Given the description of an element on the screen output the (x, y) to click on. 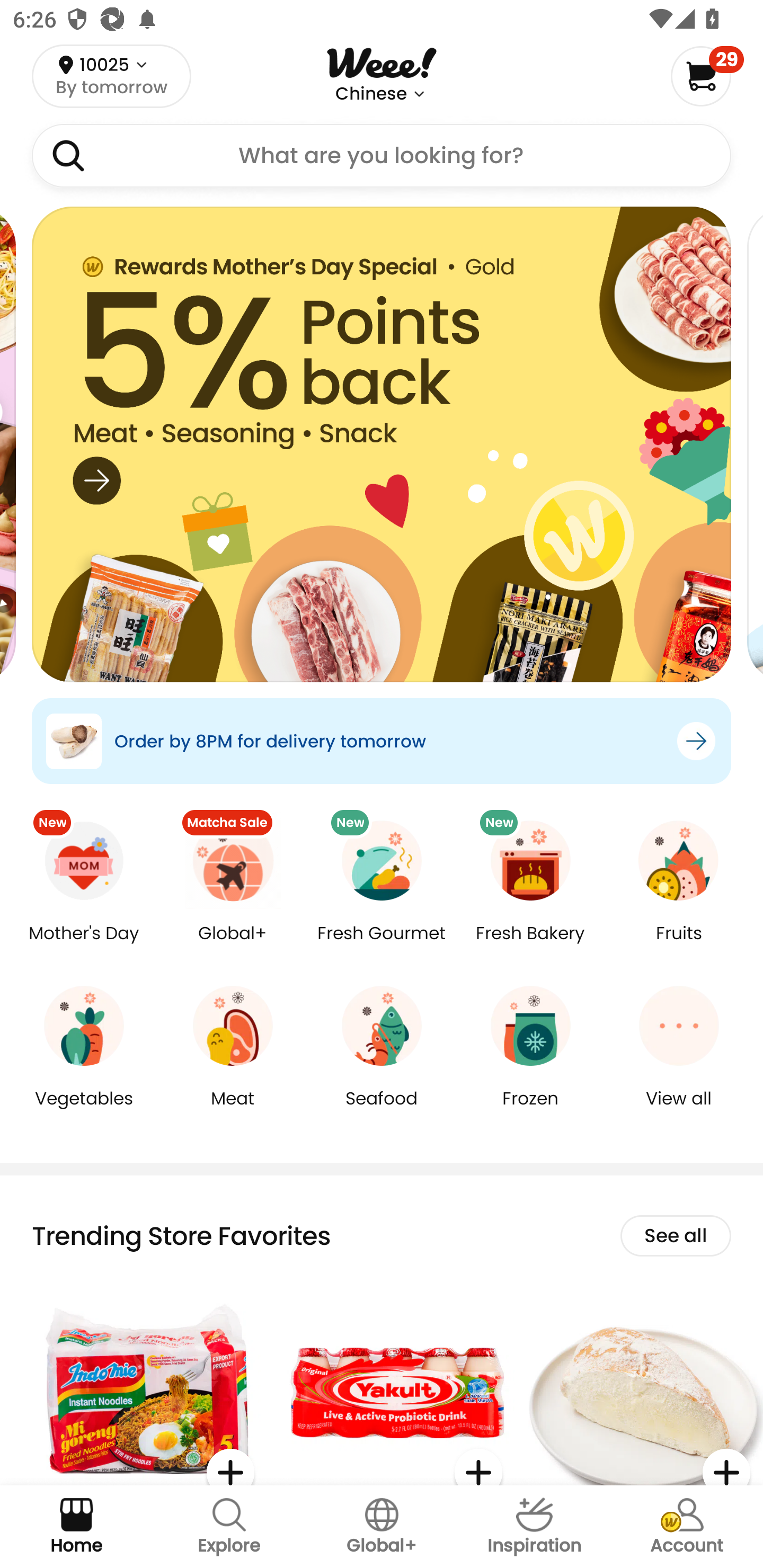
10025 By tomorrow (111, 75)
29 (706, 75)
Chinese (370, 93)
What are you looking for? (381, 155)
Order by 8PM for delivery tomorrow (381, 740)
Mother's Day (83, 946)
Global+ (232, 946)
Fresh Gourmet (381, 946)
Fresh Bakery (530, 946)
Fruits (678, 946)
Vegetables (83, 1111)
Meat (232, 1111)
Seafood (381, 1111)
Frozen (530, 1111)
View all (678, 1111)
Home (76, 1526)
Explore (228, 1526)
Global+ (381, 1526)
Inspiration (533, 1526)
Account (686, 1526)
